Given the description of an element on the screen output the (x, y) to click on. 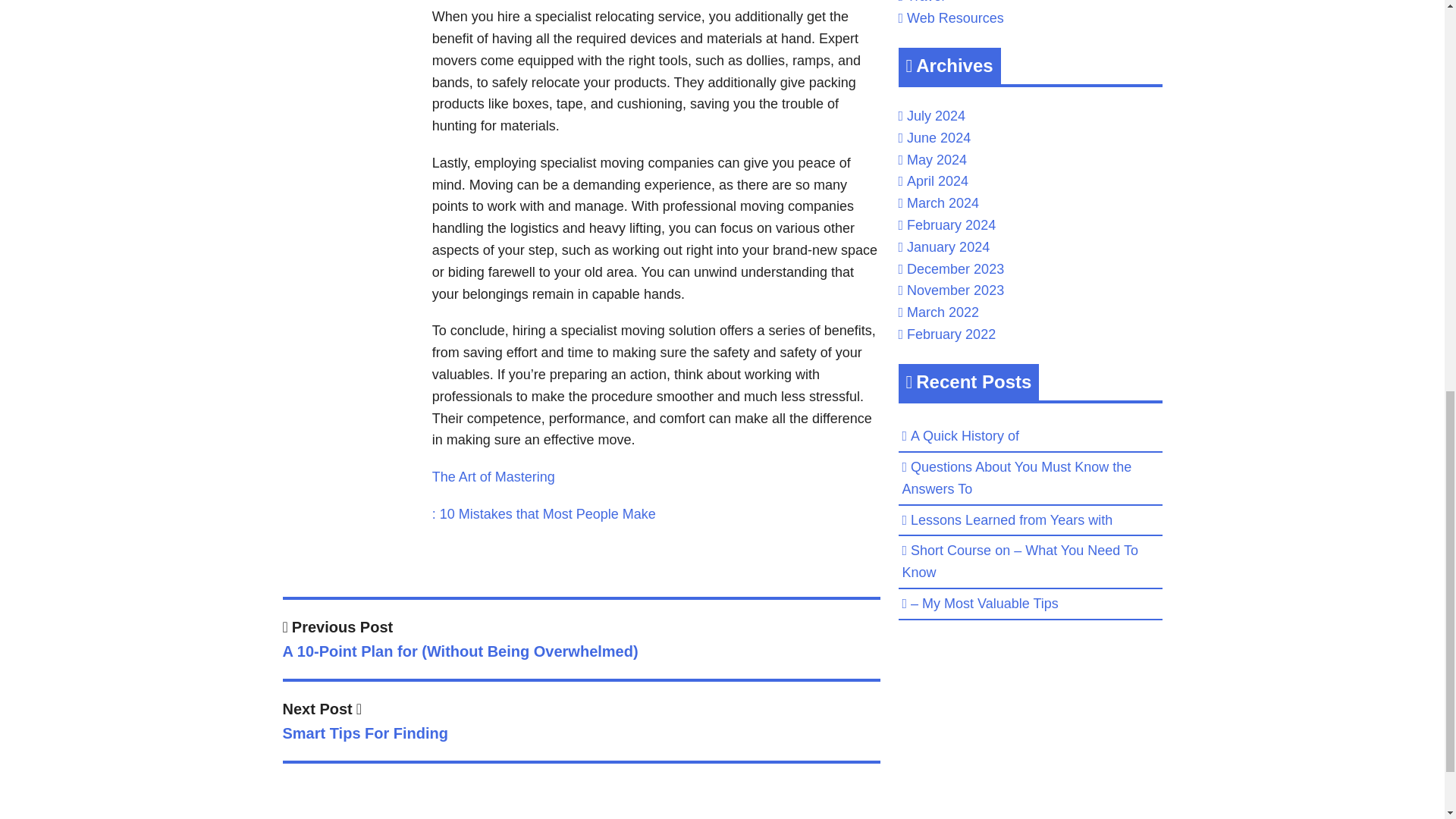
Travel (925, 2)
: 10 Mistakes that Most People Make (544, 513)
Web Resources (955, 17)
The Art of Mastering (493, 476)
